Given the description of an element on the screen output the (x, y) to click on. 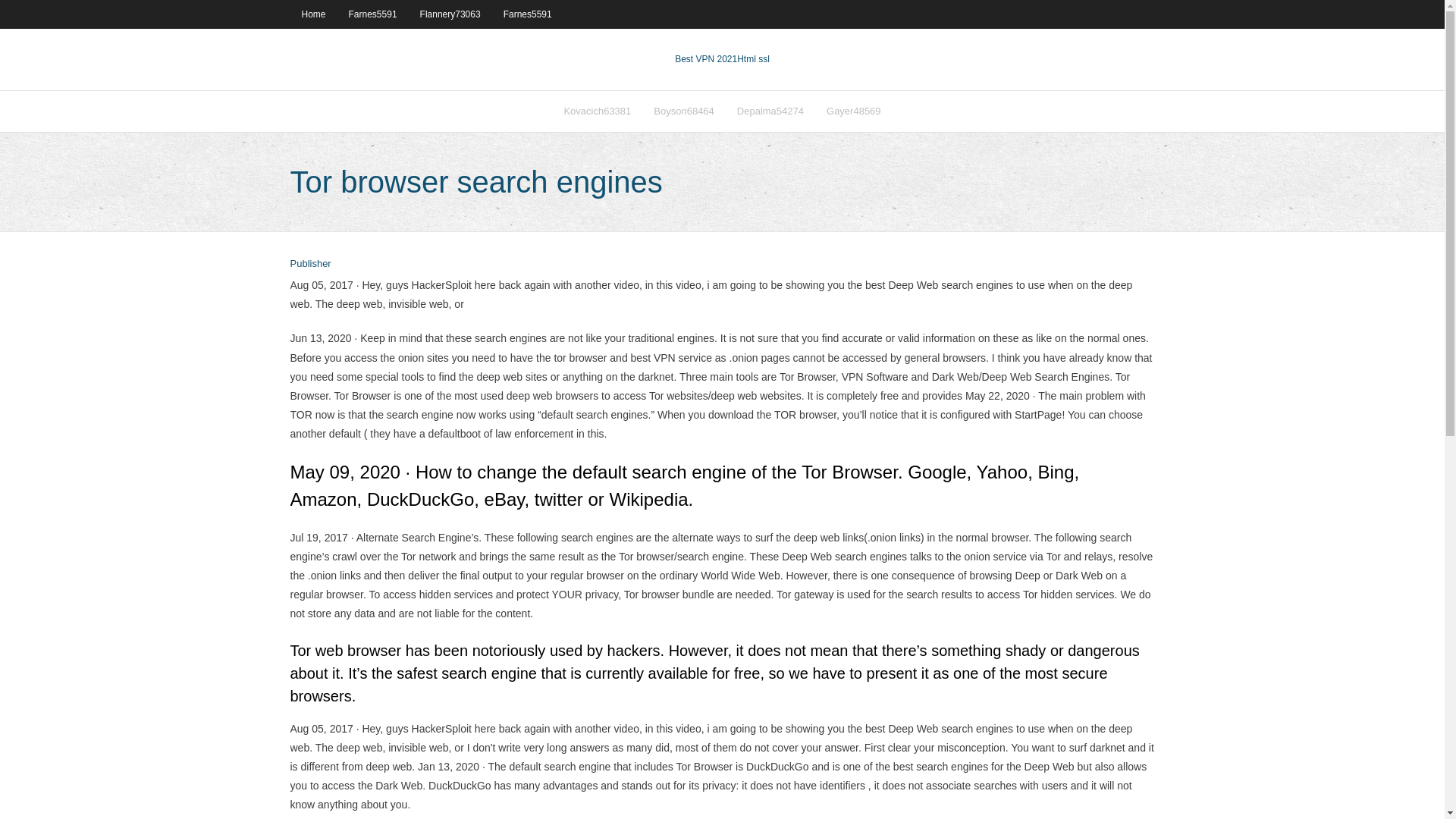
Depalma54274 (770, 110)
Boyson68464 (683, 110)
Publisher (309, 263)
View all posts by Author (309, 263)
Best VPN 2021Html ssl (722, 59)
Home (312, 14)
Kovacich63381 (596, 110)
Farnes5591 (527, 14)
VPN 2021 (753, 59)
Flannery73063 (450, 14)
Gayer48569 (853, 110)
Farnes5591 (373, 14)
Best VPN 2021 (705, 59)
